Given the description of an element on the screen output the (x, y) to click on. 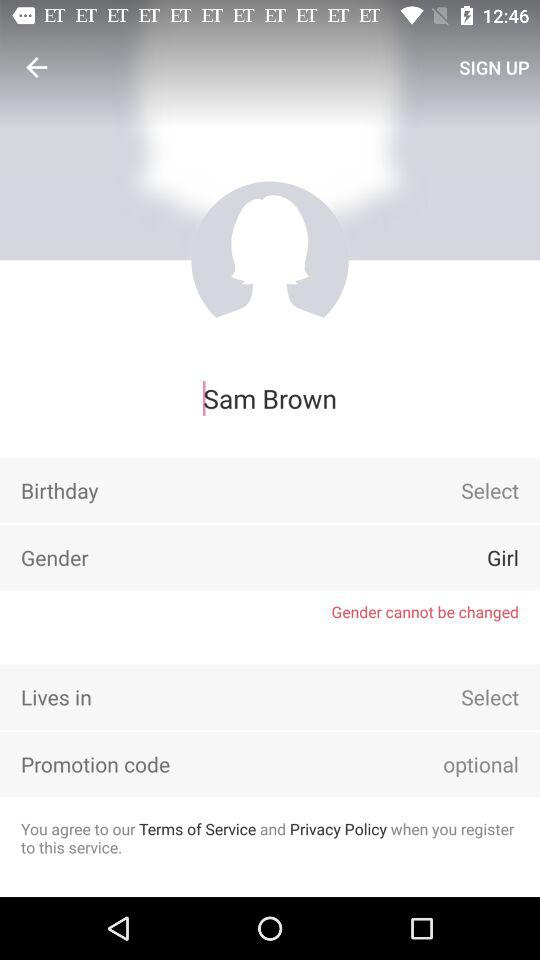
select item above the birthday (270, 398)
